Given the description of an element on the screen output the (x, y) to click on. 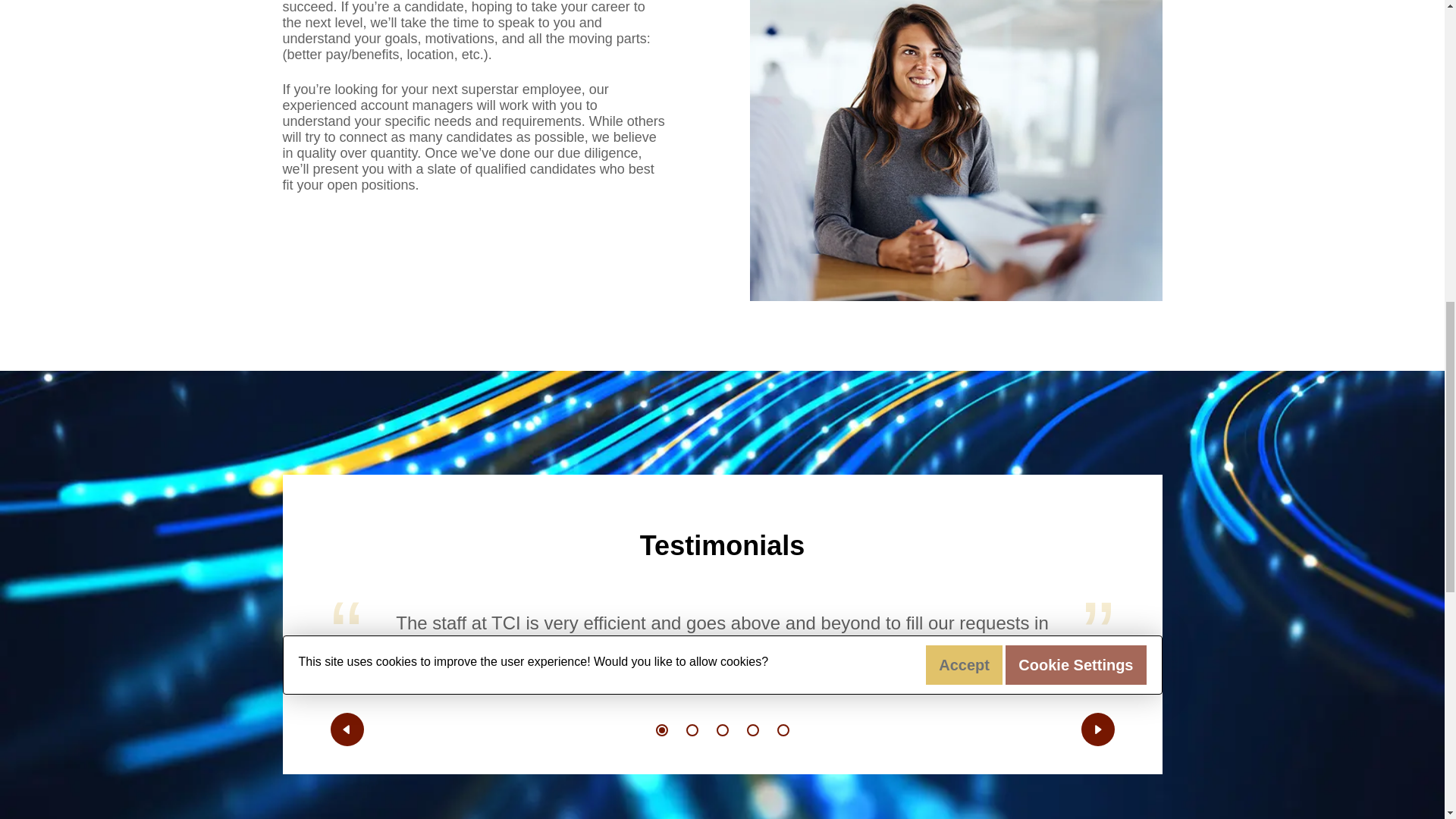
testimonial 2 (691, 729)
testimonial 5 (782, 729)
testimonial 3 (722, 729)
Next testimonial (1098, 729)
Previous testimonial (347, 729)
testimonial 4 (751, 729)
testimonial 1 (660, 729)
